Given the description of an element on the screen output the (x, y) to click on. 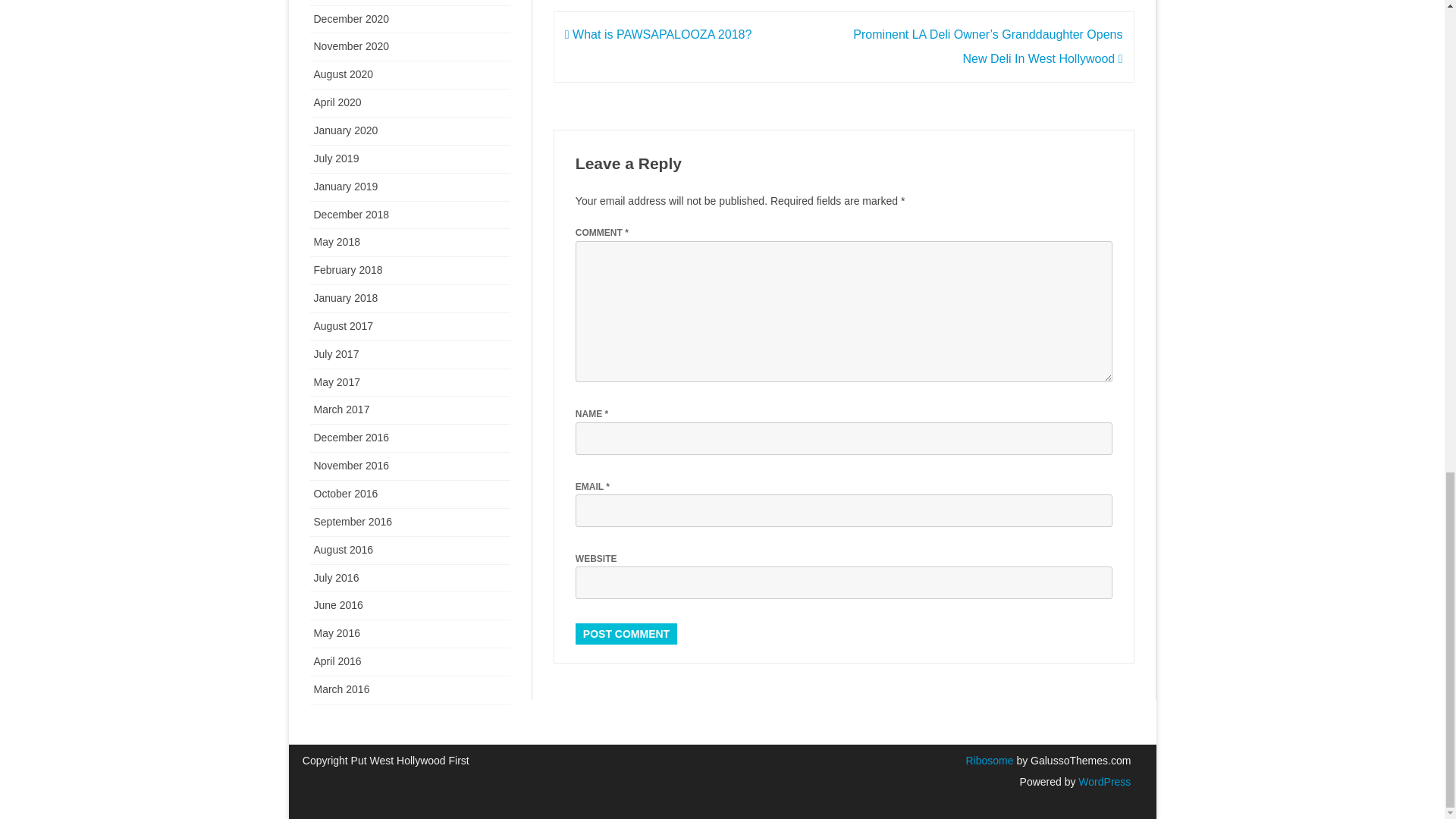
Post Comment (626, 633)
Post Comment (626, 633)
What is PAWSAPALOOZA 2018? (658, 33)
